Given the description of an element on the screen output the (x, y) to click on. 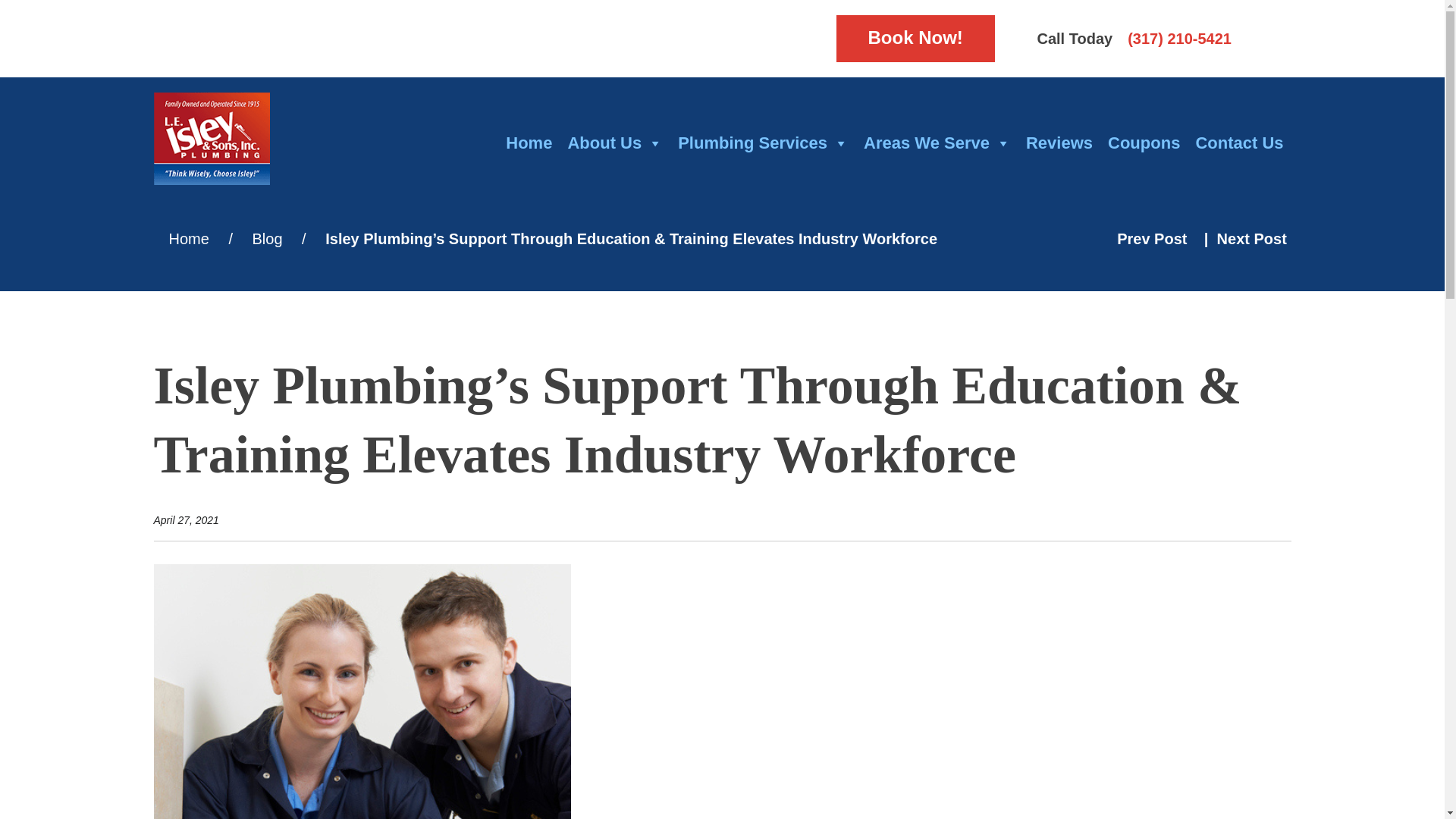
About Us (614, 142)
Home (528, 142)
Plumbing Services (762, 142)
Areas We Serve (936, 142)
Book Now! (914, 38)
